Given the description of an element on the screen output the (x, y) to click on. 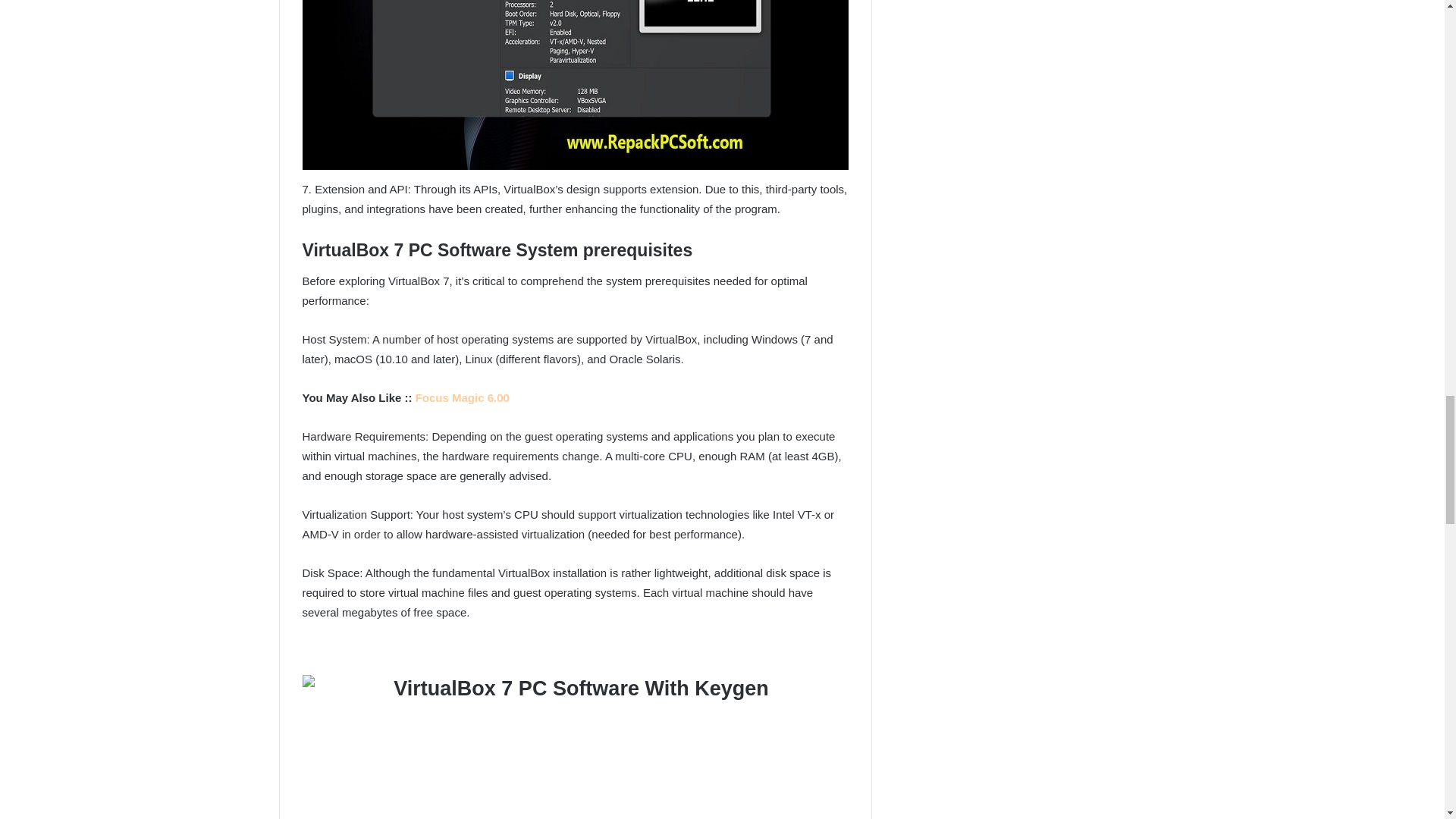
VirtualBox 7 PC Software With Keygen (574, 746)
Focus Magic 6.00  (463, 397)
VirtualBox 7 PC Software With Patch (574, 84)
